Given the description of an element on the screen output the (x, y) to click on. 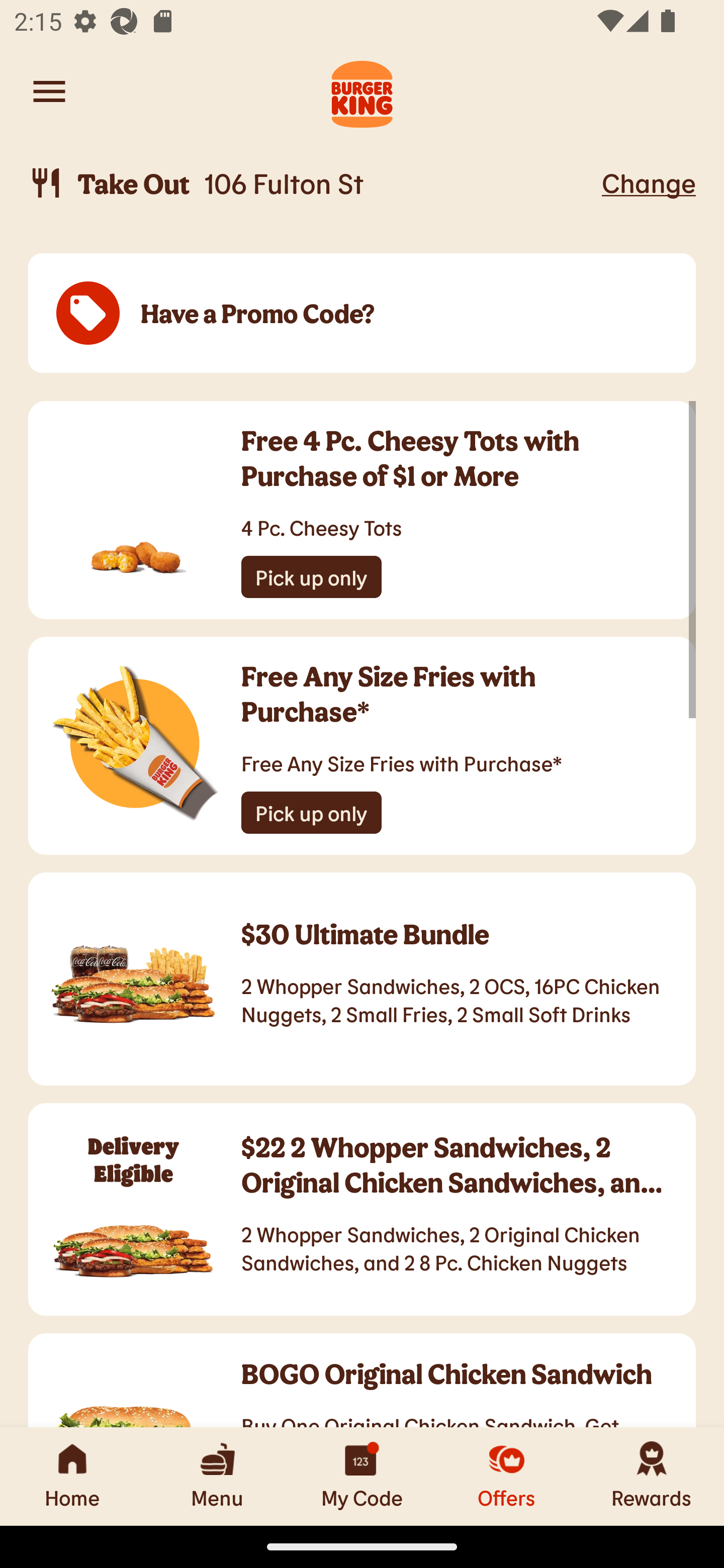
Burger King Logo. Navigate to Home (362, 91)
Navigate to account menu  (49, 91)
Take Out, 106 Fulton St  Take Out 106 Fulton St (311, 183)
Change (648, 182)
Have a Promo Code?  Have a Promo Code? (361, 313)
Home (72, 1475)
Menu (216, 1475)
My Code (361, 1475)
Offers (506, 1475)
Rewards (651, 1475)
